Given the description of an element on the screen output the (x, y) to click on. 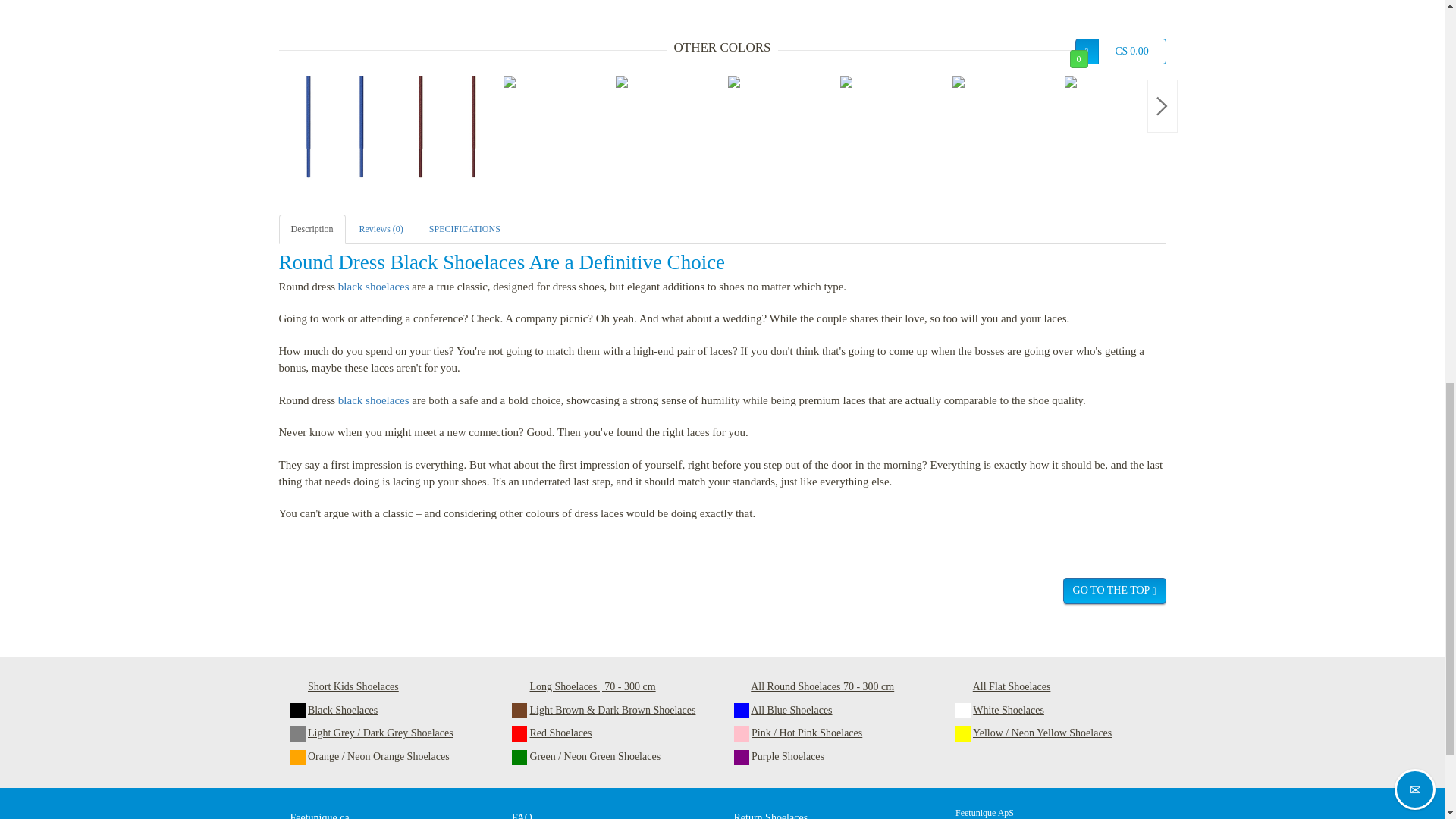
round beige dress shoelaces (784, 132)
round dress blue shoelaces (335, 132)
Round dress brown shoelaces (447, 132)
round red dress shoelaces (671, 132)
round navy blue dress shoelaces (387, 2)
